Given the description of an element on the screen output the (x, y) to click on. 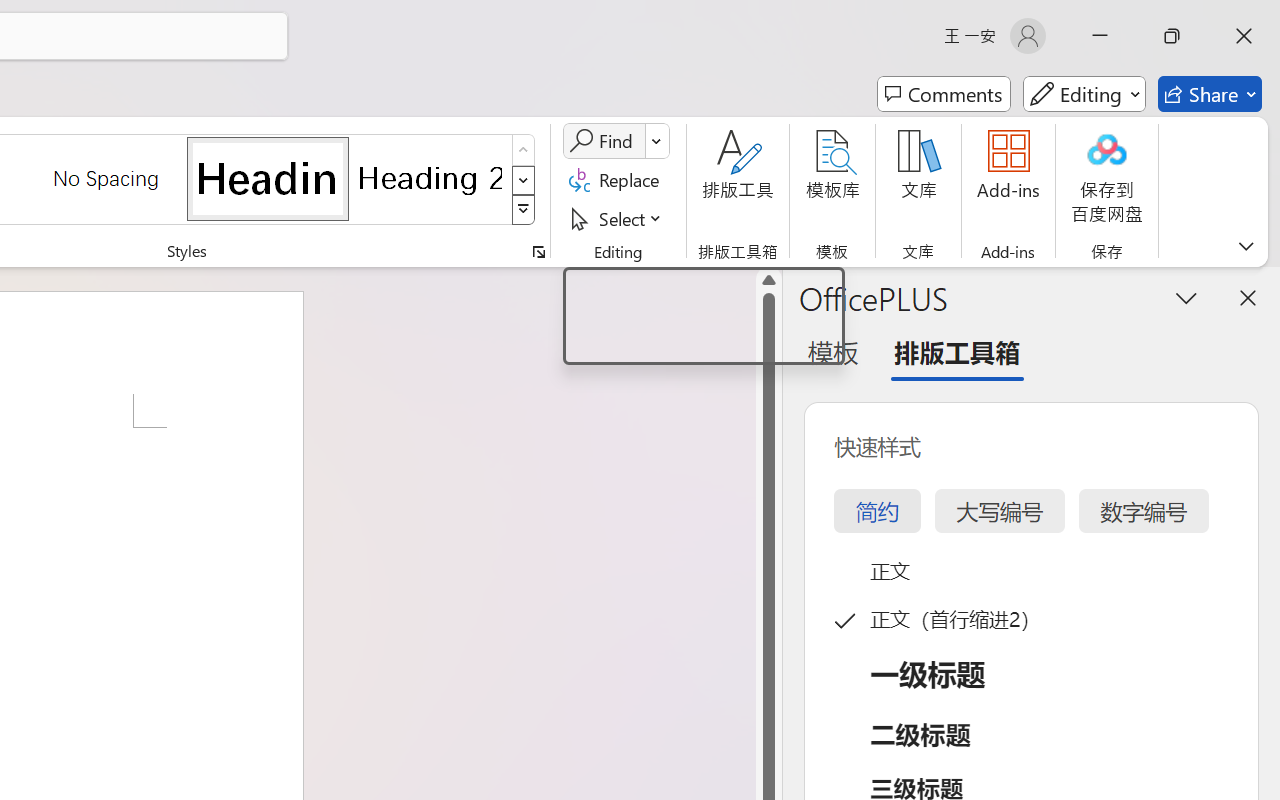
Line up (769, 279)
